Given the description of an element on the screen output the (x, y) to click on. 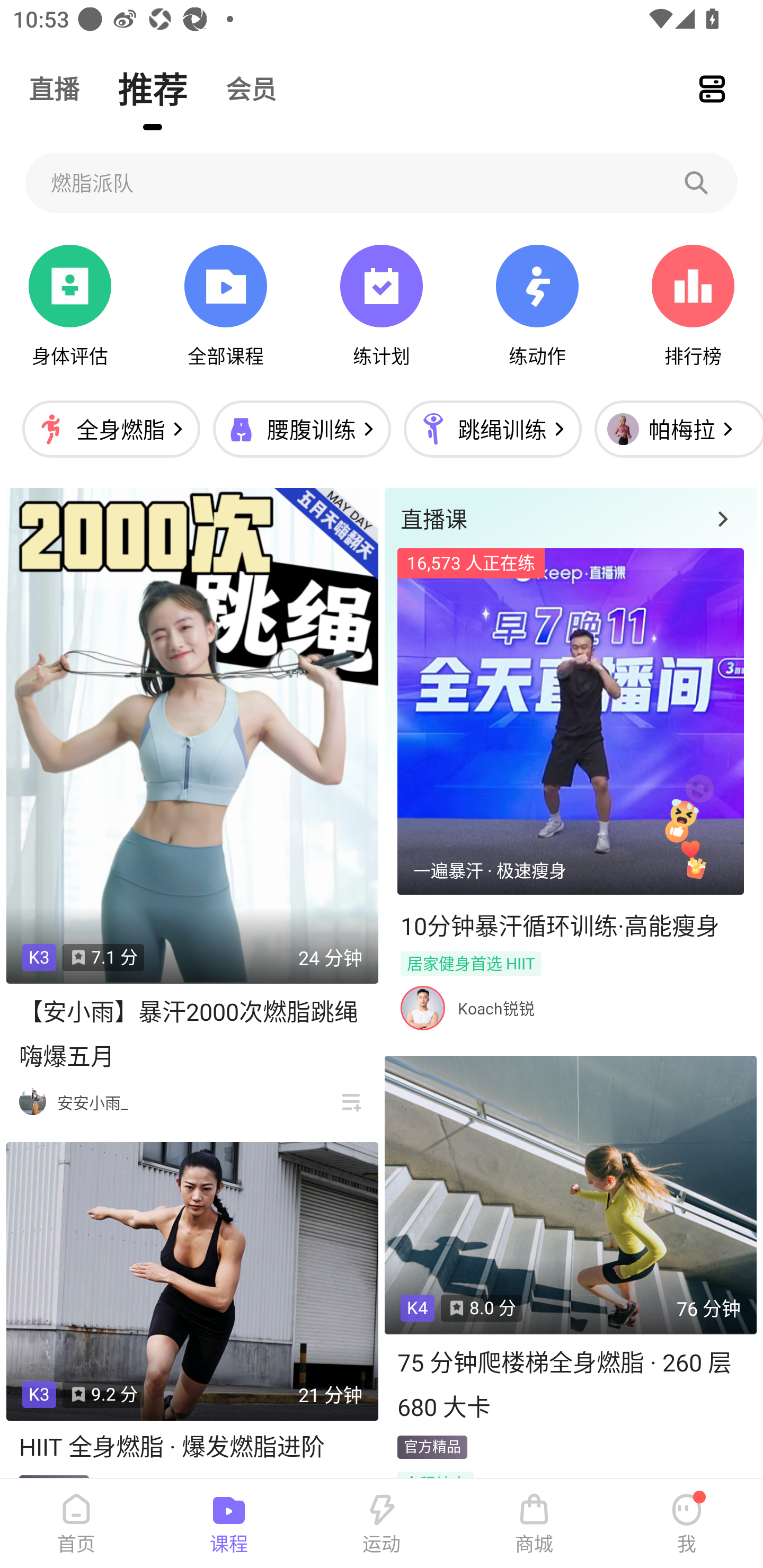
直播 (53, 88)
推荐 (152, 88)
会员 (251, 88)
燃脂派队 (381, 182)
身体评估 (69, 306)
全部课程 (225, 306)
练计划 (381, 306)
练动作 (537, 306)
排行榜 (692, 306)
全身燃脂 更多 (110, 428)
腰腹训练 更多 (301, 428)
跳绳训练 更多 (492, 428)
帕梅拉 更多 (673, 428)
K3 7.1 分 24 分钟 【安小雨】暴汗2000次燃脂跳绳嗨爆五月 安安小雨_ (192, 804)
Koach锐锐 (495, 1008)
安安小雨_ (92, 1102)
K3 9.2 分 21 分钟 HIIT 全身燃脂 · 爆发燃脂进阶 (192, 1309)
首页 (76, 1523)
课程 (228, 1523)
运动 (381, 1523)
商城 (533, 1523)
我 (686, 1523)
